Given the description of an element on the screen output the (x, y) to click on. 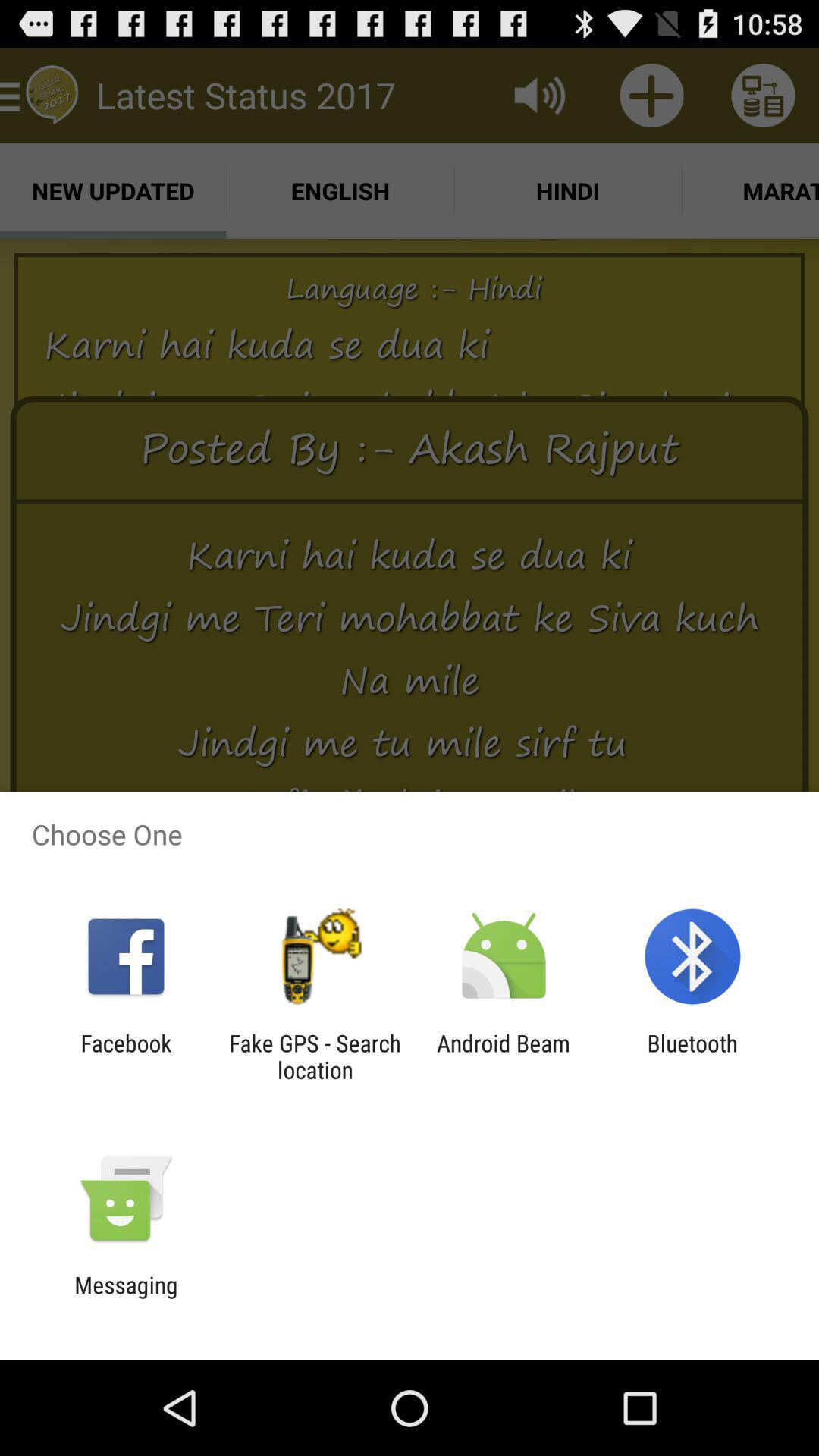
turn on messaging item (126, 1298)
